Given the description of an element on the screen output the (x, y) to click on. 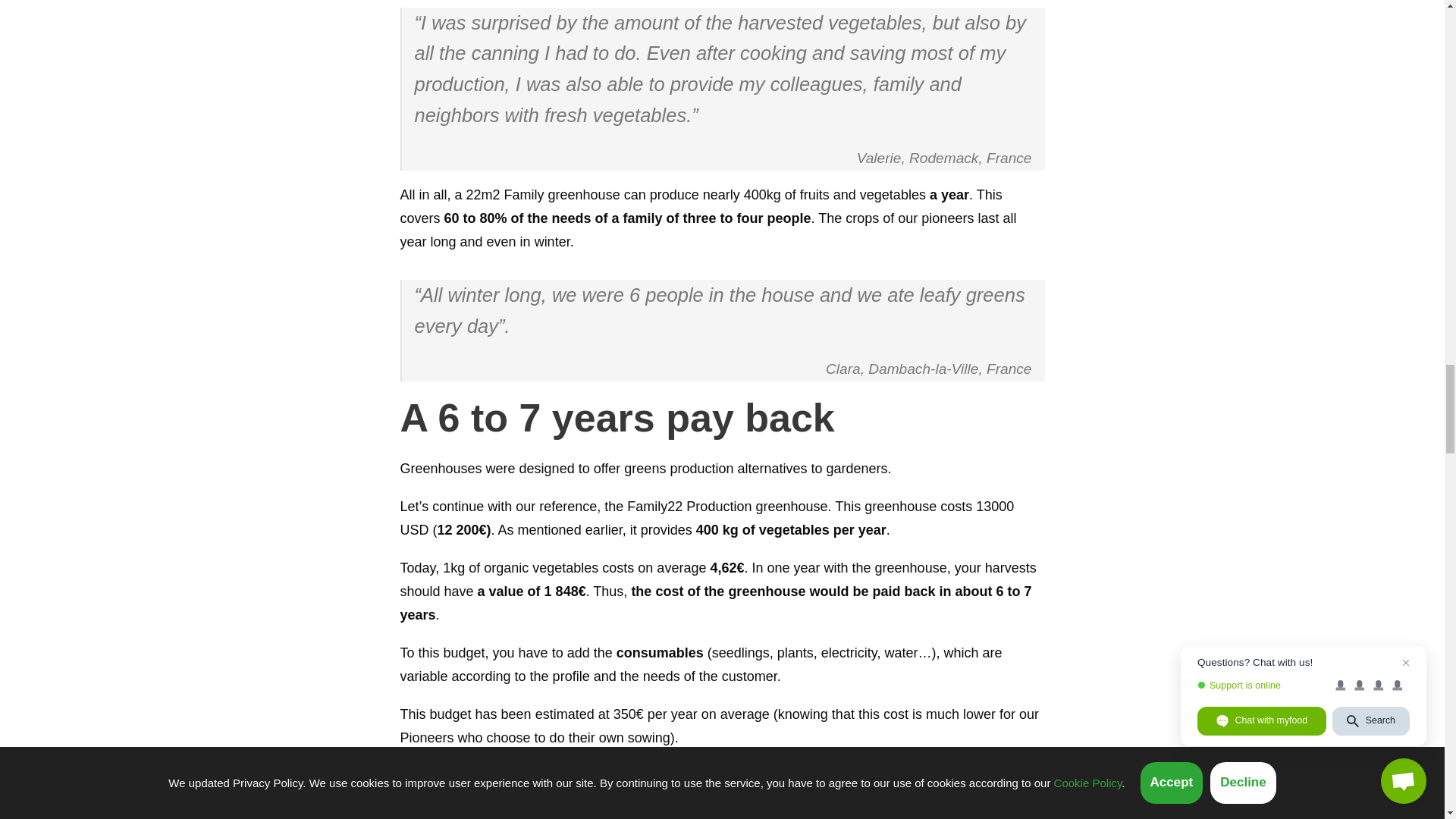
Do the math yourself (493, 789)
